Given the description of an element on the screen output the (x, y) to click on. 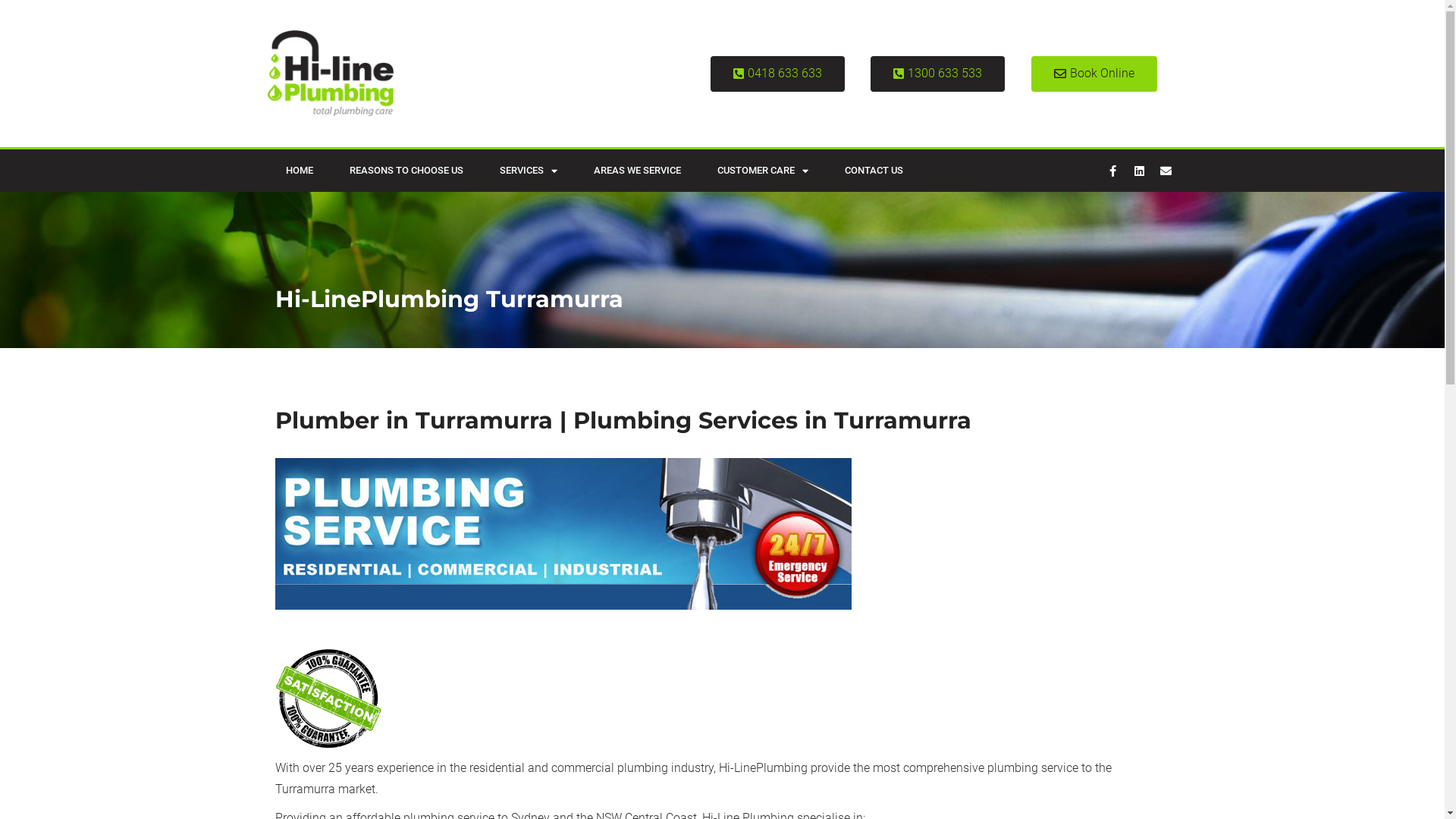
Book Online Element type: text (1094, 73)
0418 633 633 Element type: text (777, 73)
REASONS TO CHOOSE US Element type: text (405, 170)
AREAS WE SERVICE Element type: text (636, 170)
1300 633 533 Element type: text (937, 73)
SERVICES Element type: text (527, 170)
CONTACT US Element type: text (873, 170)
CUSTOMER CARE Element type: text (762, 170)
HOME Element type: text (298, 170)
